Given the description of an element on the screen output the (x, y) to click on. 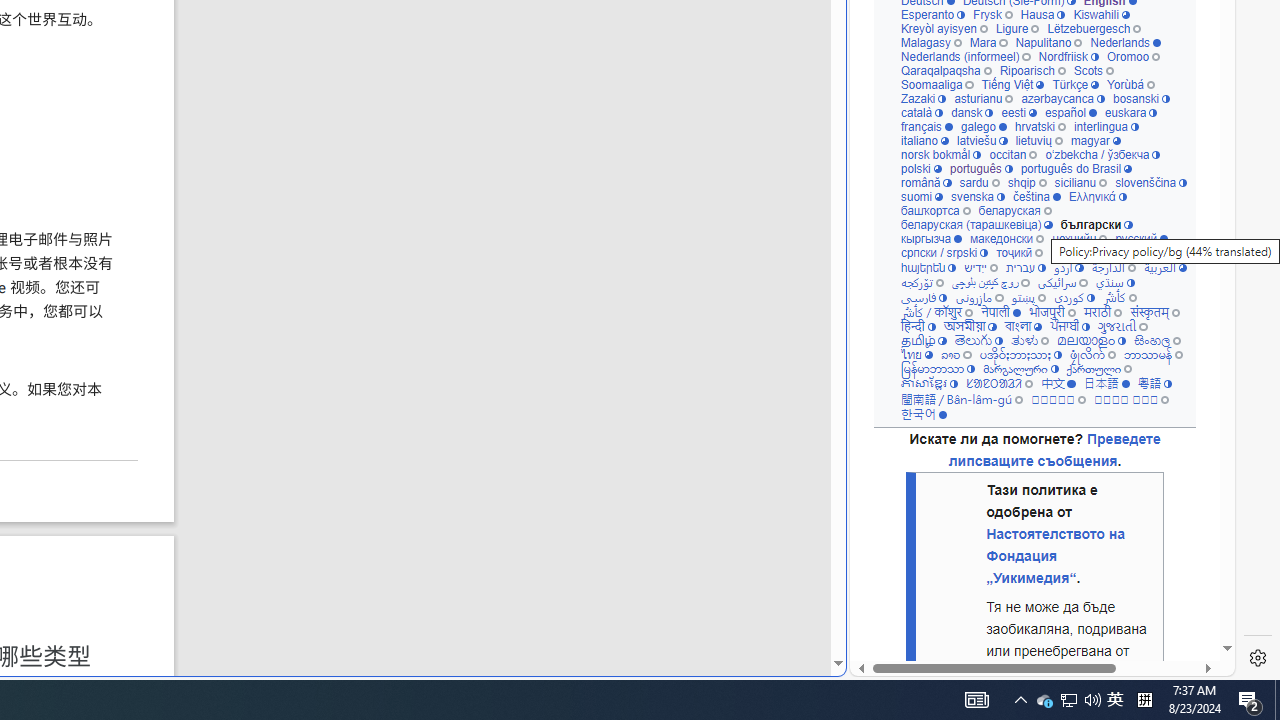
eesti (1018, 112)
dansk (972, 112)
Malagasy (930, 42)
polski (920, 168)
Frysk (992, 14)
Nederlands (informeel) (964, 56)
